Given the description of an element on the screen output the (x, y) to click on. 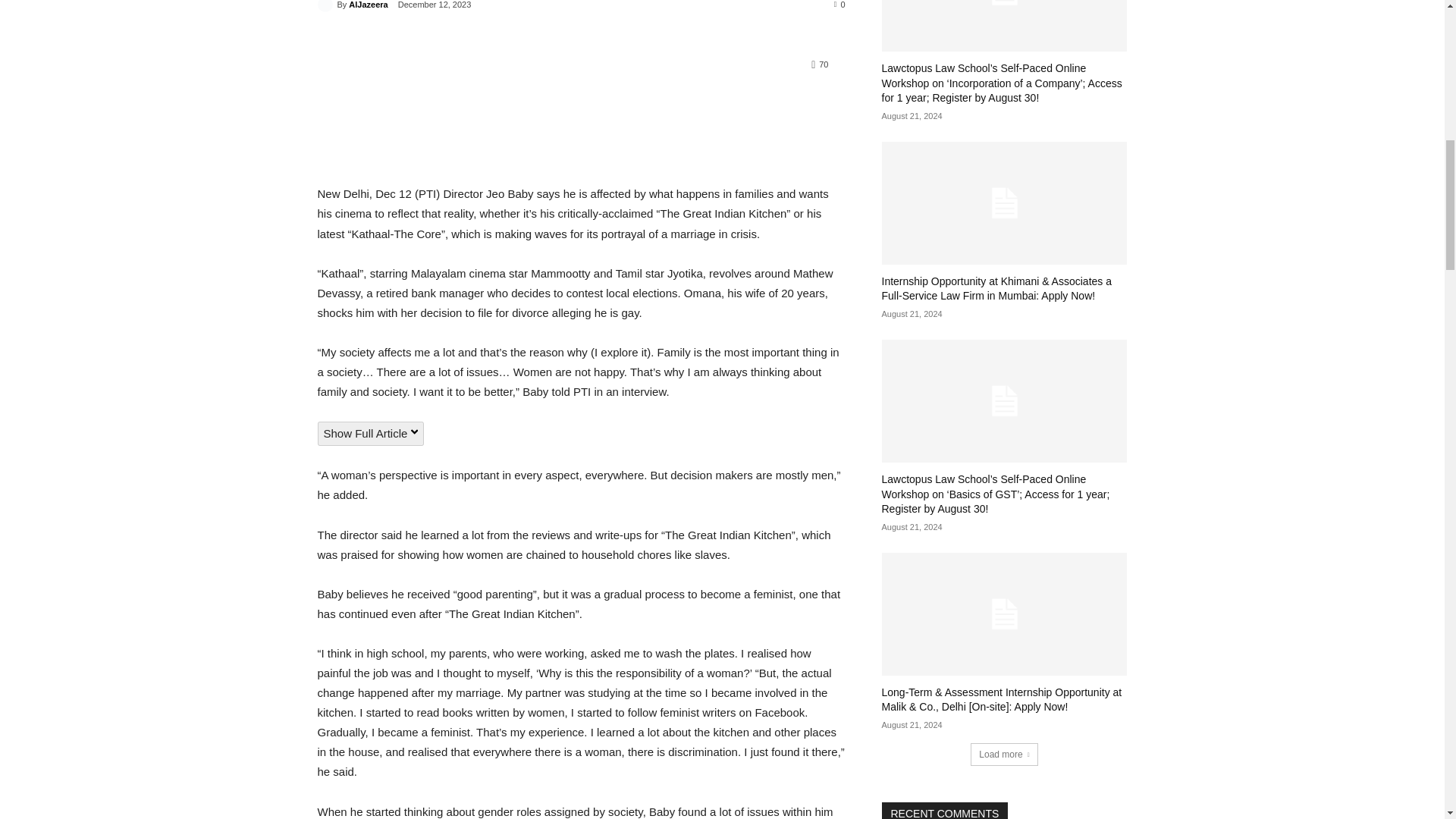
AlJazeera (326, 6)
0 (839, 4)
AlJazeera (368, 7)
